Given the description of an element on the screen output the (x, y) to click on. 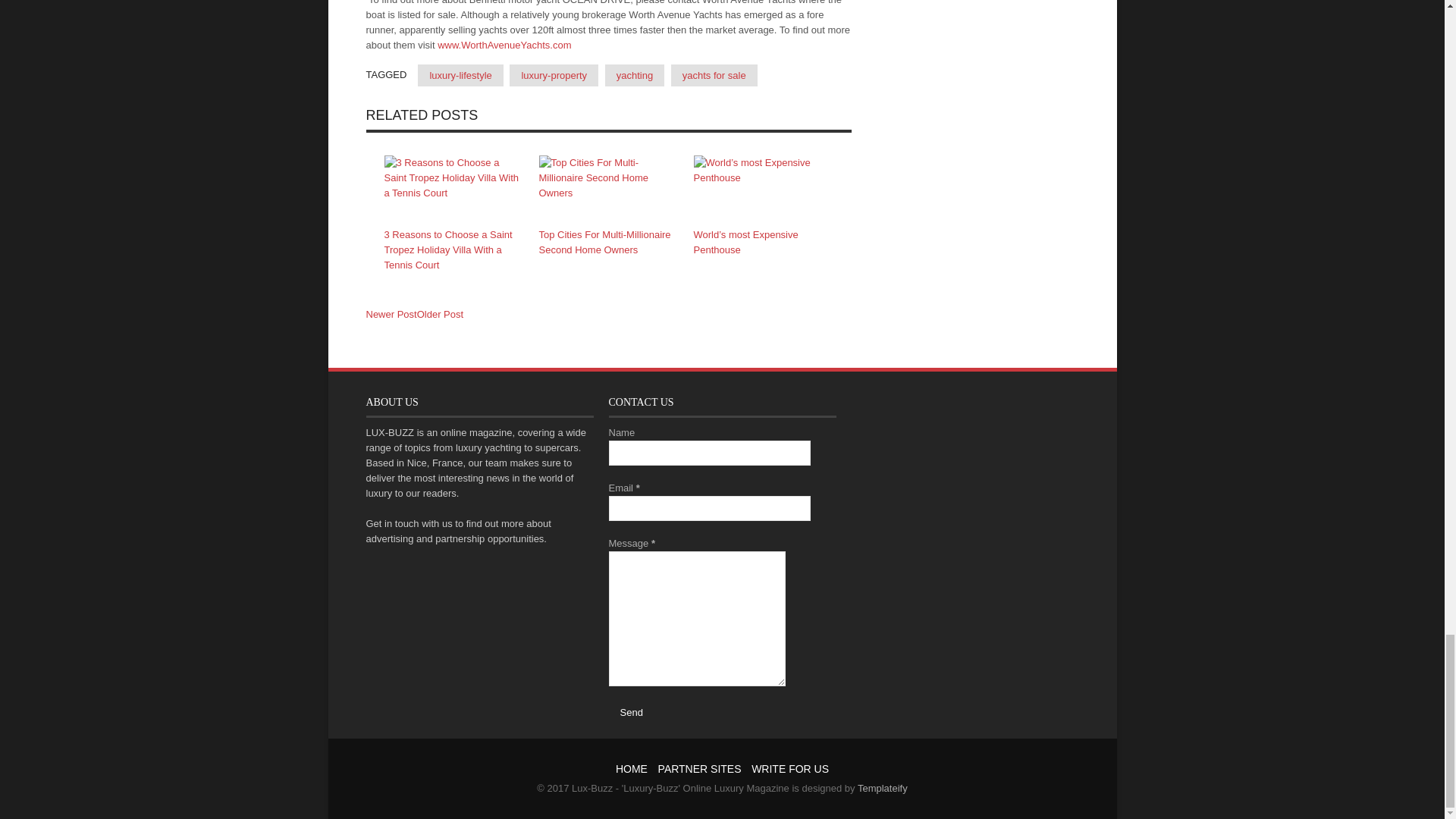
Newer Post (390, 314)
luxury-lifestyle (459, 75)
Top Cities For Multi-Millionaire Second Home Owners (603, 242)
www.WorthAvenueYachts.com (504, 44)
Older Post (439, 314)
yachts for sale (714, 75)
luxury-property (553, 75)
yachting (634, 75)
Send (630, 712)
